Given the description of an element on the screen output the (x, y) to click on. 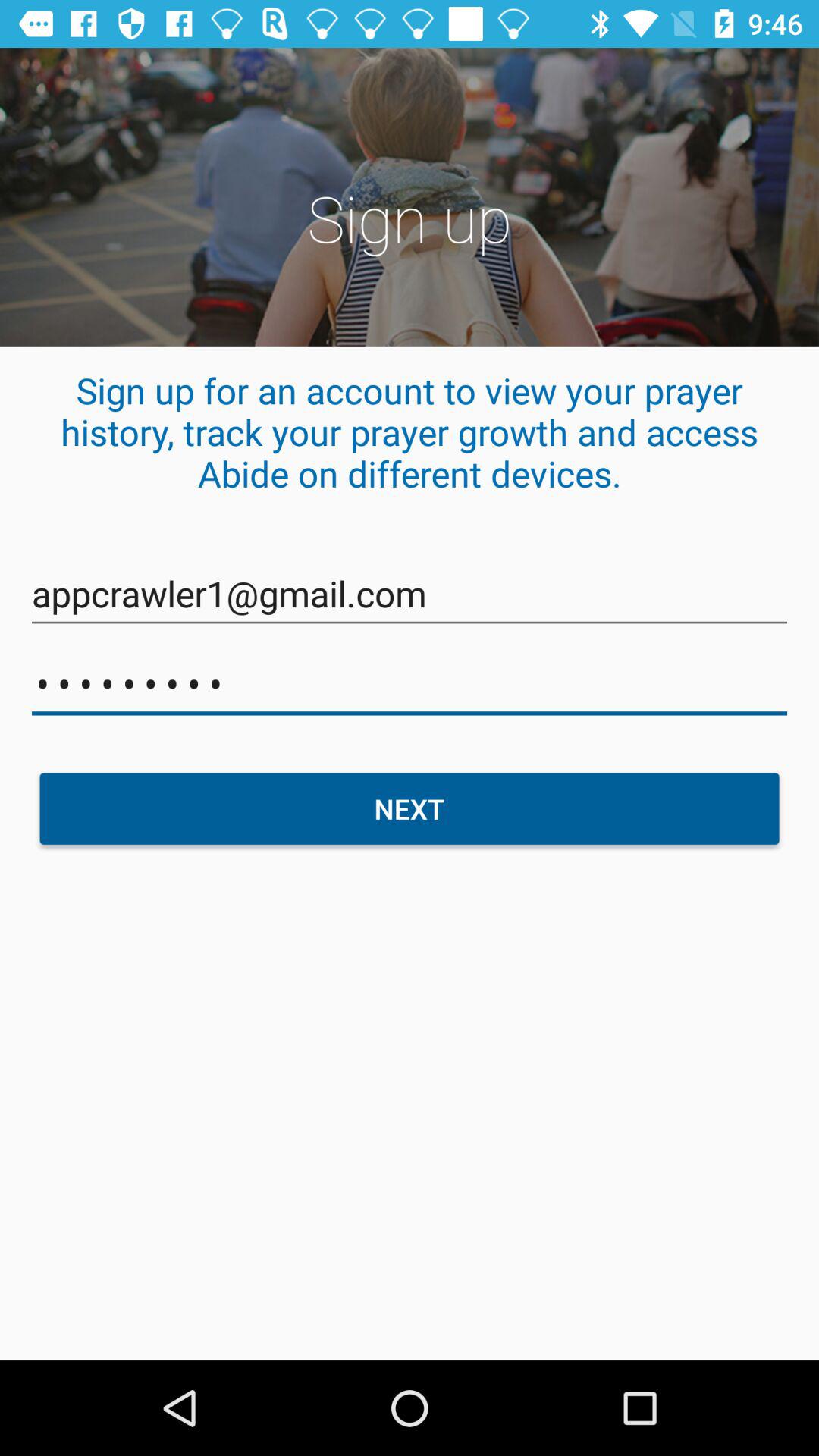
jump to next (409, 808)
